Given the description of an element on the screen output the (x, y) to click on. 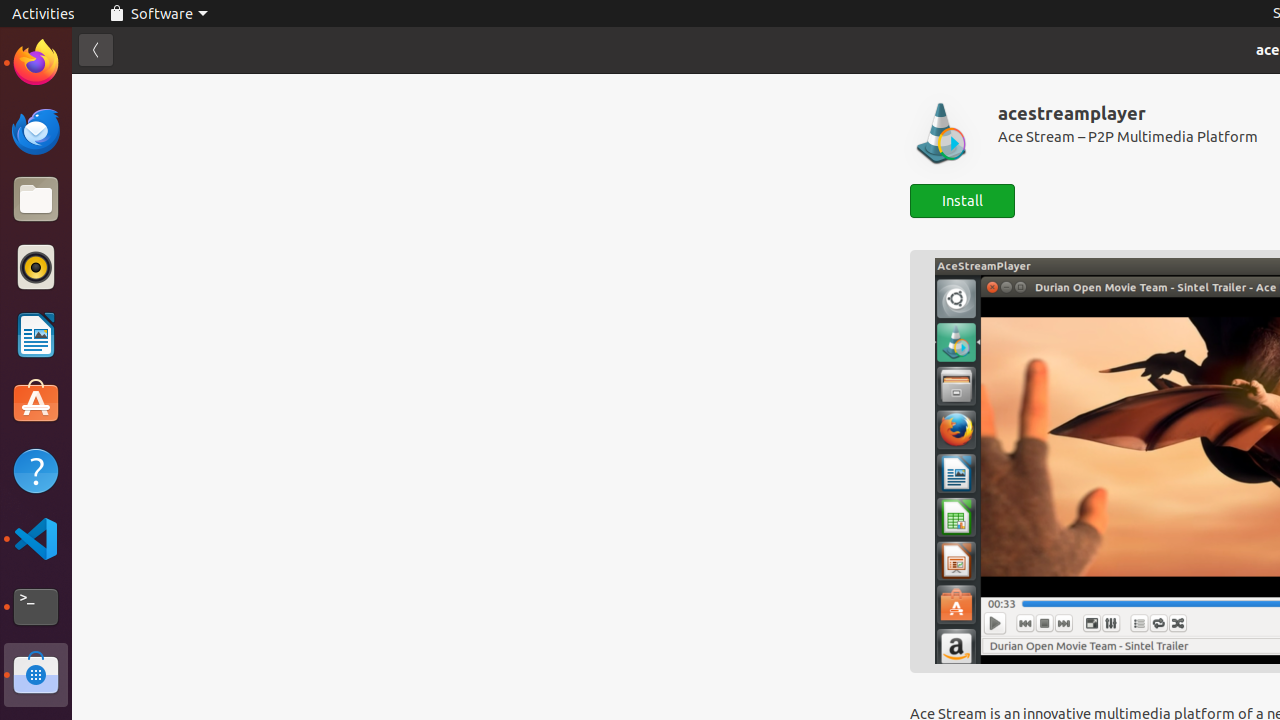
Software Element type: push-button (36, 675)
IsaHelpMain.desktop Element type: label (133, 300)
luyi1 Element type: label (133, 89)
